Given the description of an element on the screen output the (x, y) to click on. 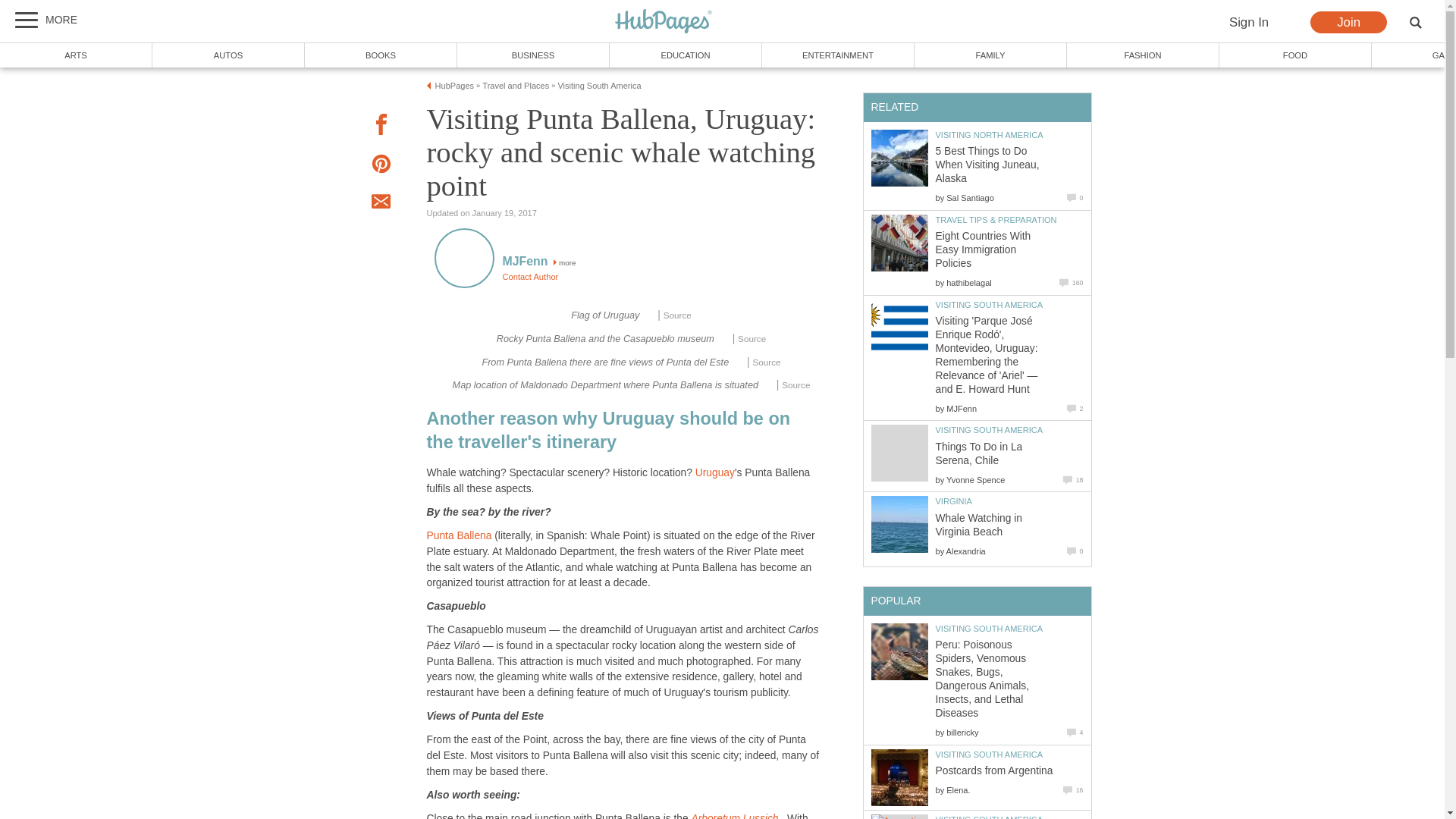
Sign In (1248, 22)
HubPages (454, 85)
Uruguay (715, 472)
AUTOS (228, 55)
HubPages (663, 22)
HubPages (663, 22)
Email (380, 203)
FASHION (1143, 55)
ARTS (76, 55)
Whale Watching in Virginia Beach (898, 524)
BOOKS (380, 55)
5 Best Things to Do When Visiting Juneau, Alaska (898, 157)
Punta Ballena (459, 535)
HubPages (663, 21)
